Given the description of an element on the screen output the (x, y) to click on. 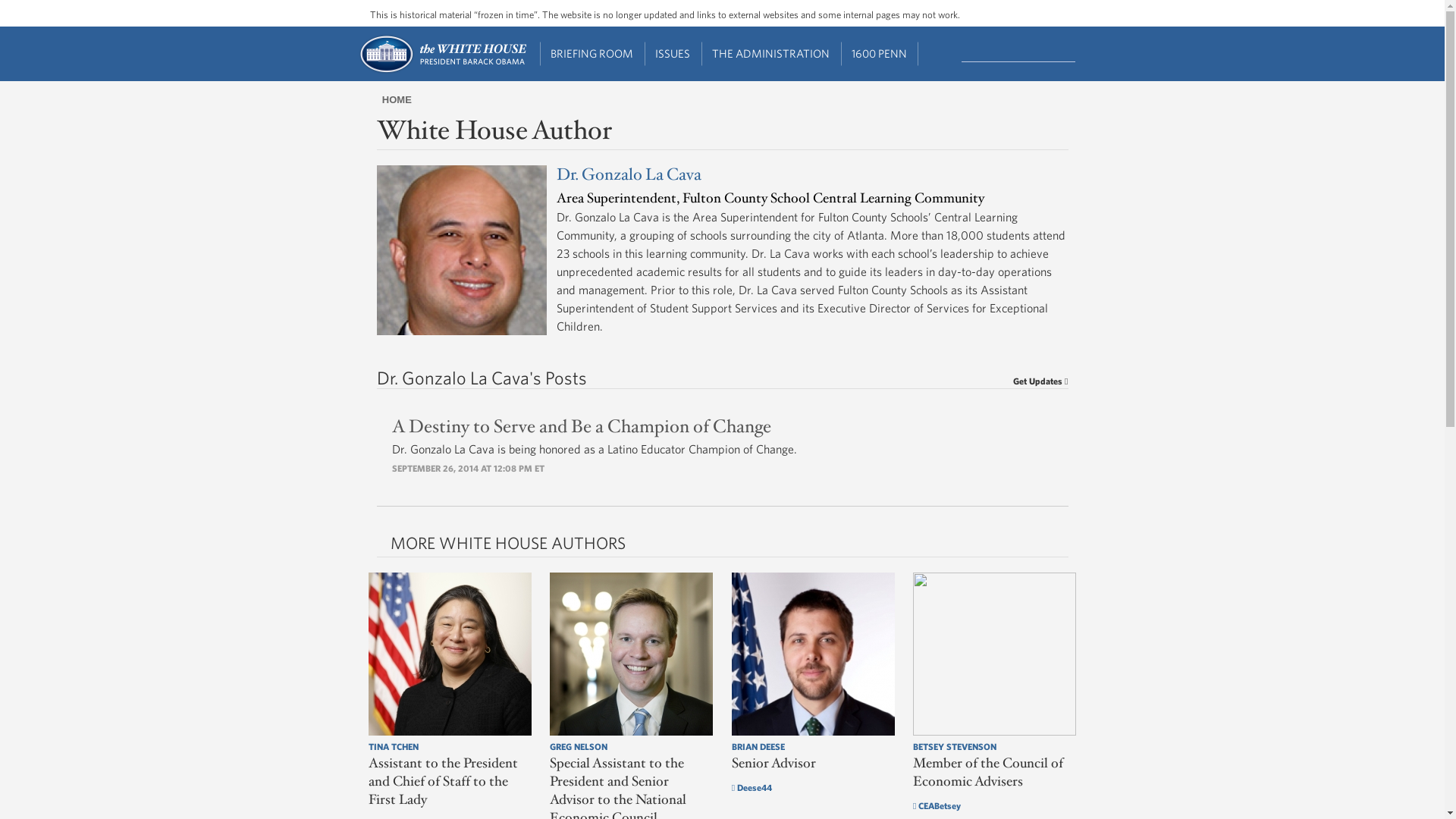
Enter the terms you wish to search for. (1017, 52)
BRIEFING ROOM (592, 53)
ISSUES (673, 53)
Search (1076, 51)
Home (441, 70)
